Given the description of an element on the screen output the (x, y) to click on. 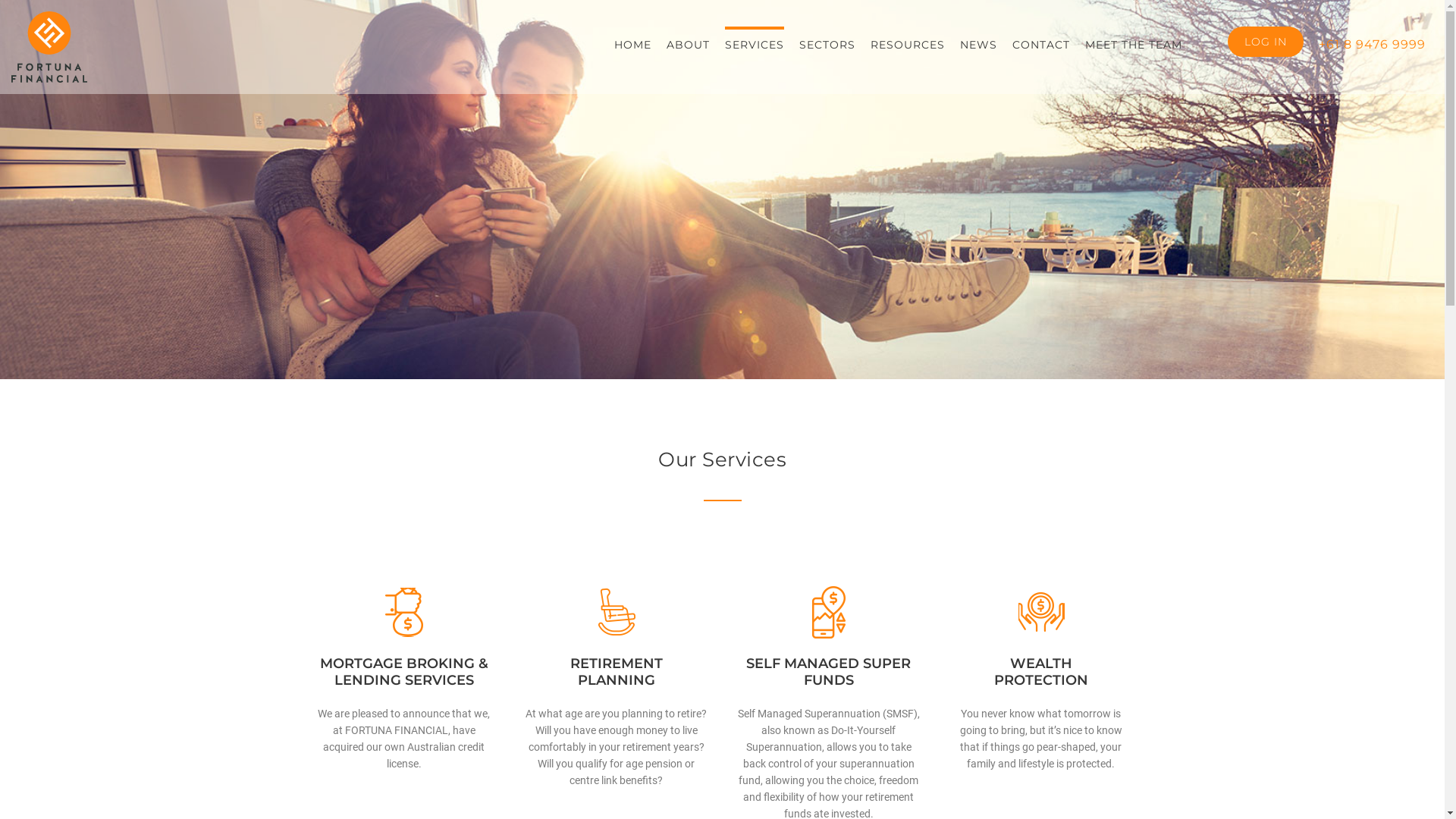
ABOUT Element type: text (687, 42)
CONTACT Element type: text (1041, 42)
NEWS Element type: text (978, 42)
MEET THE TEAM Element type: text (1133, 42)
RESOURCES Element type: text (907, 42)
LOG IN Element type: text (1265, 41)
SERVICES Element type: text (754, 42)
HOME Element type: text (632, 42)
SECTORS Element type: text (827, 42)
+61 8 9476 9999 Element type: text (1371, 42)
